Given the description of an element on the screen output the (x, y) to click on. 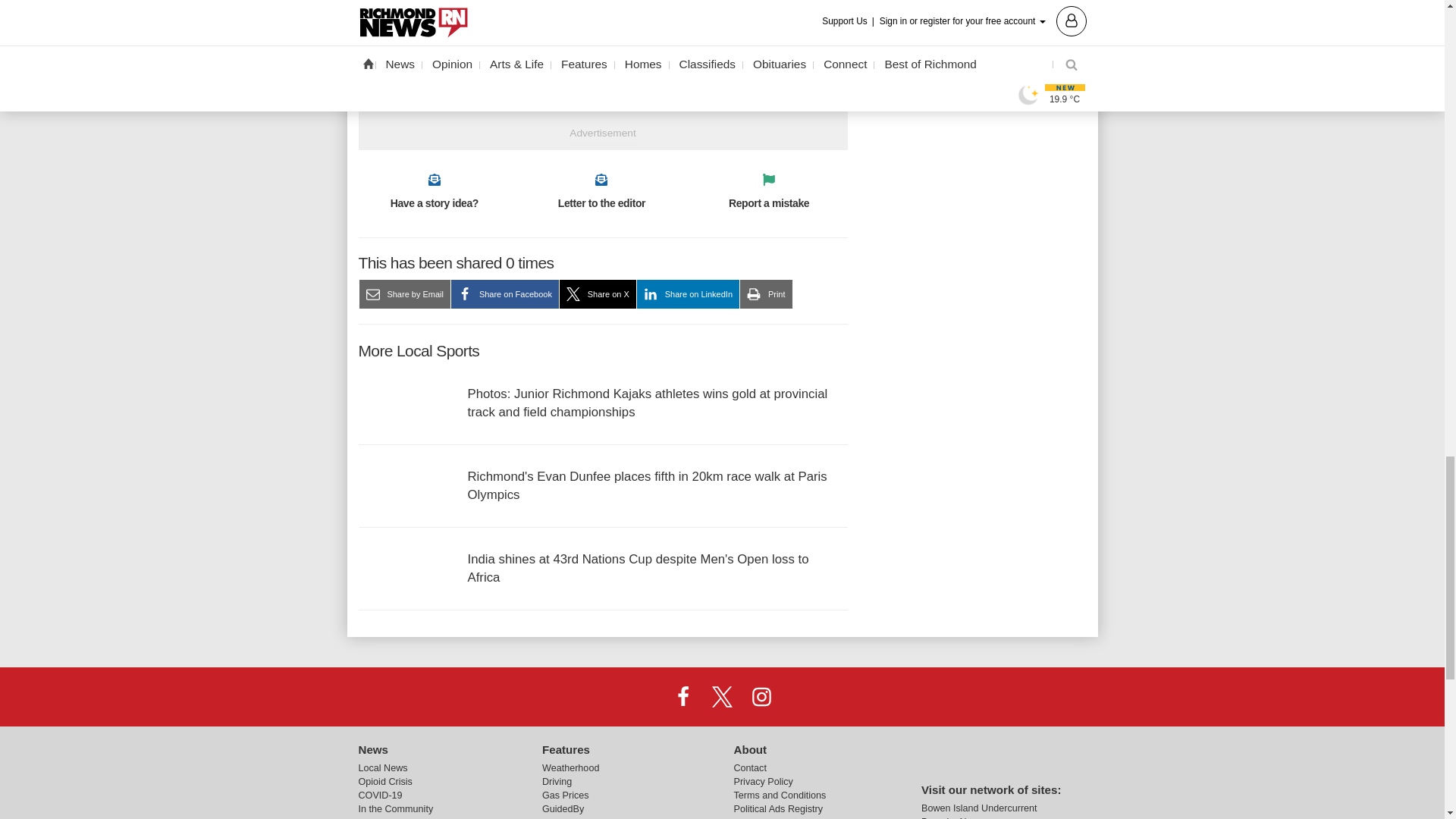
Instagram (760, 696)
X (721, 696)
Facebook (683, 696)
